Given the description of an element on the screen output the (x, y) to click on. 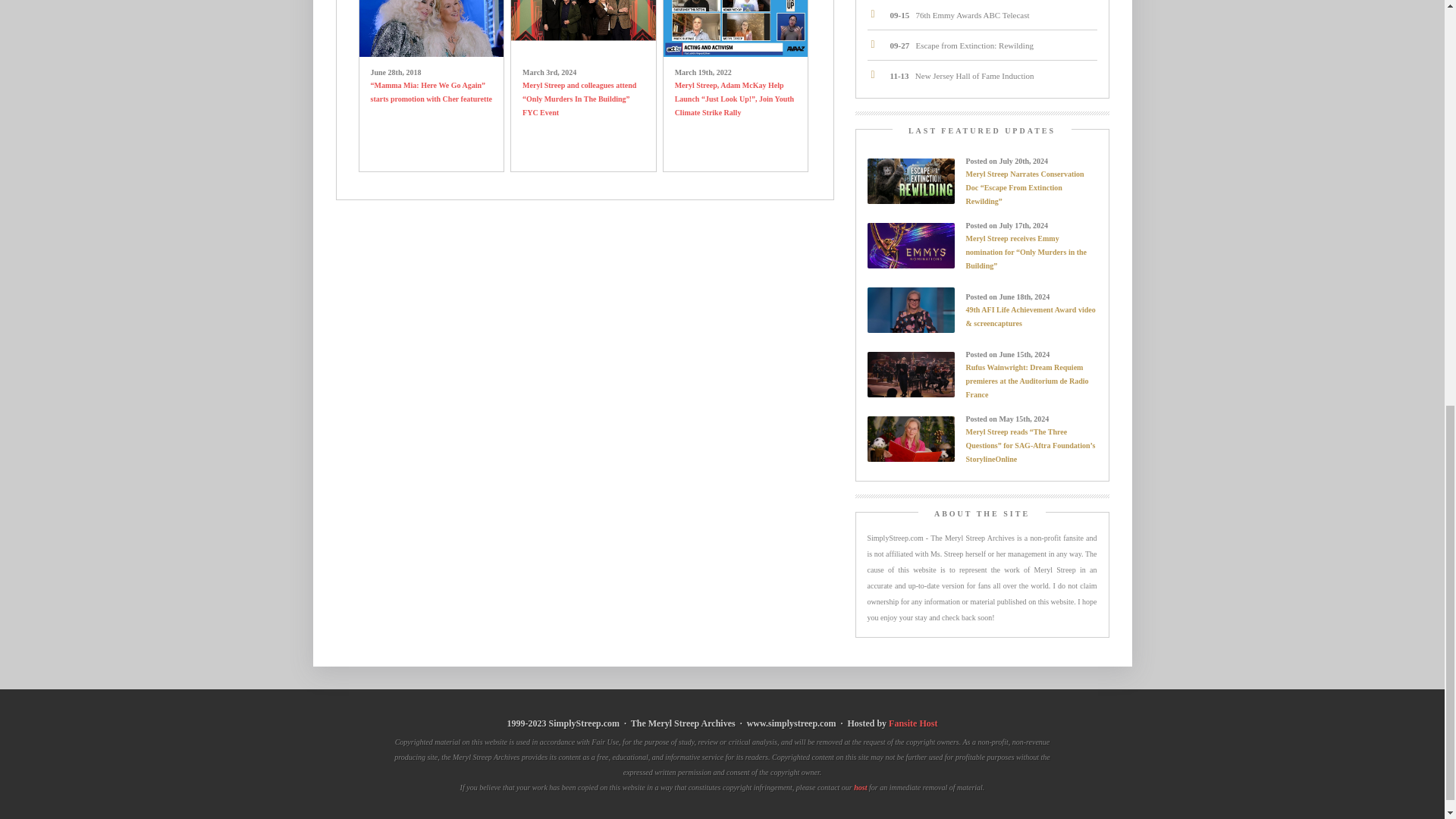
Fansite Host (912, 723)
